Given the description of an element on the screen output the (x, y) to click on. 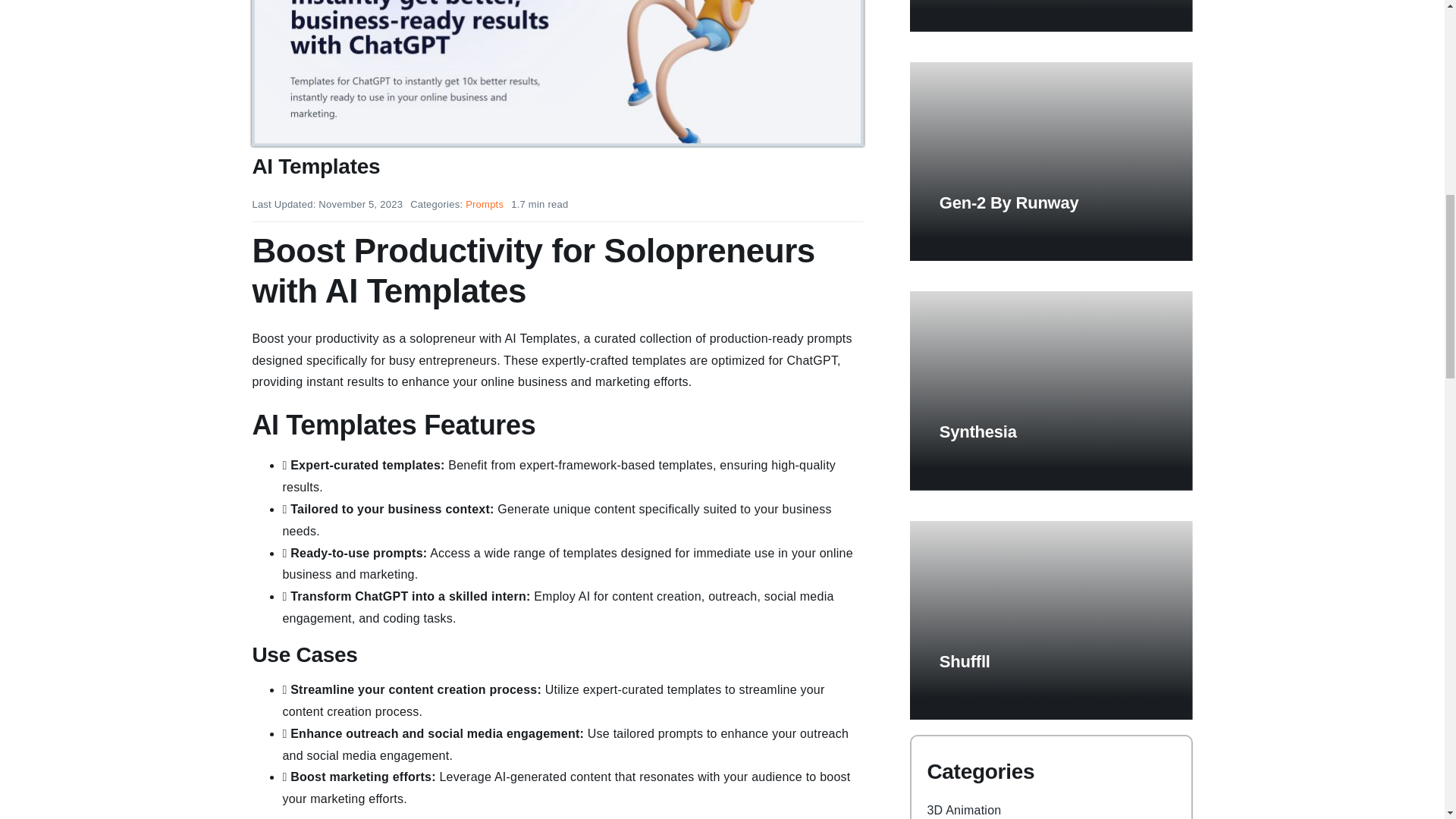
AI Templates (557, 71)
